Given the description of an element on the screen output the (x, y) to click on. 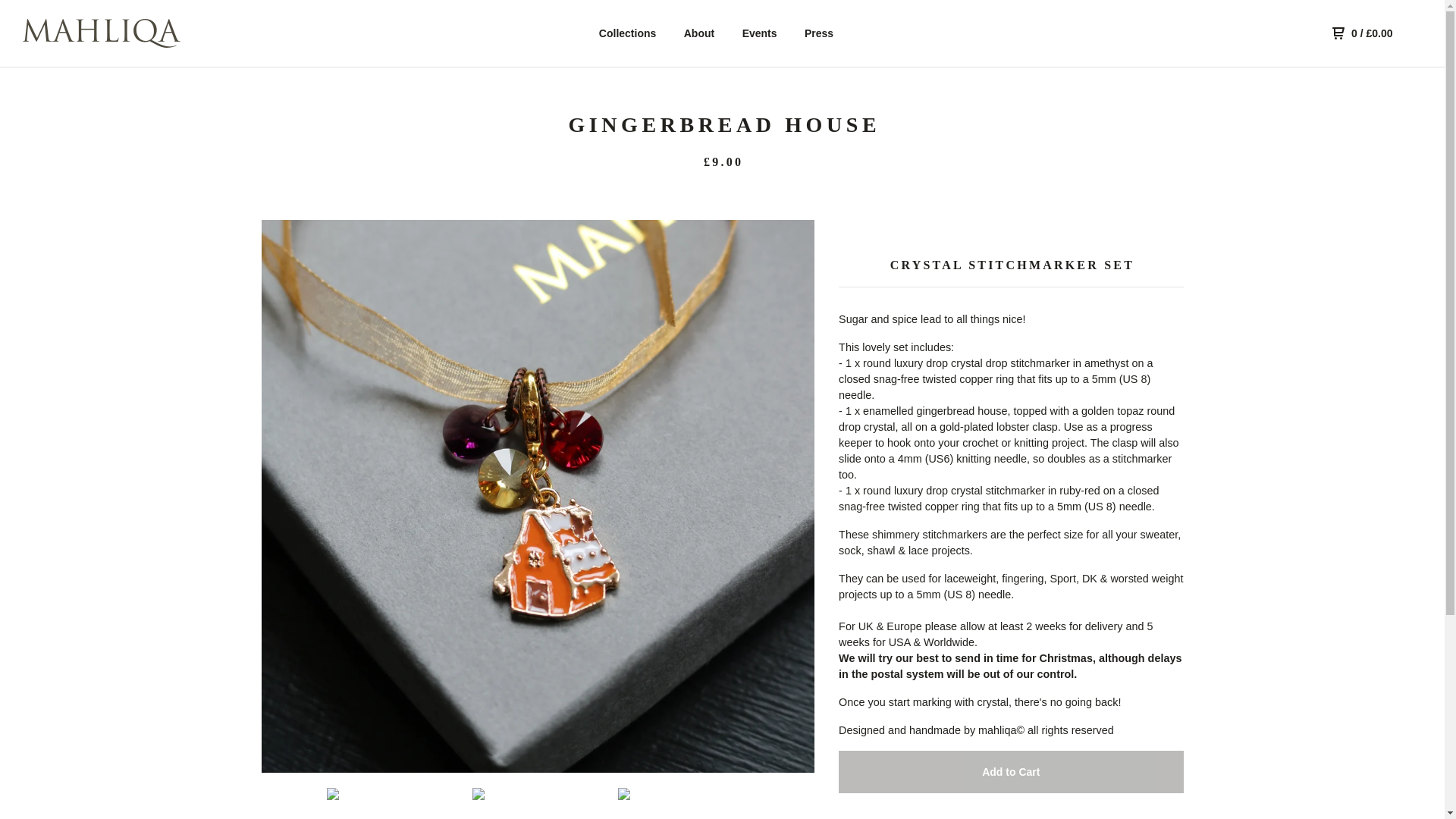
View Press (818, 33)
Events (759, 33)
Press (818, 33)
Add to Cart (1010, 772)
View Events (759, 33)
Collections (627, 33)
About (699, 33)
Add to Cart (1010, 772)
View About (699, 33)
